Given the description of an element on the screen output the (x, y) to click on. 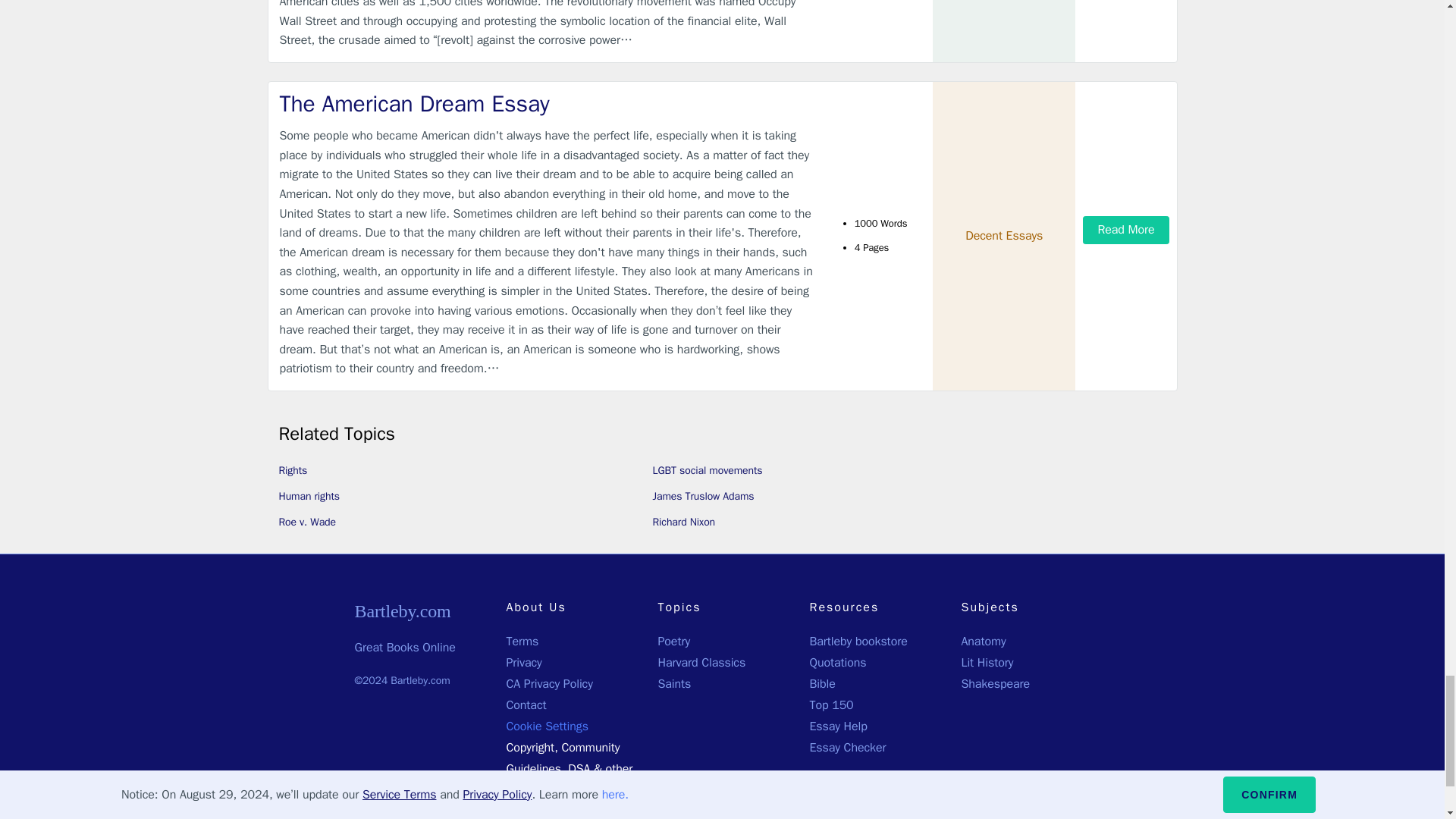
Richard Nixon (683, 521)
LGBT social movements (706, 470)
Roe v. Wade (307, 521)
Human rights (309, 495)
Rights (293, 470)
James Truslow Adams (703, 495)
